Given the description of an element on the screen output the (x, y) to click on. 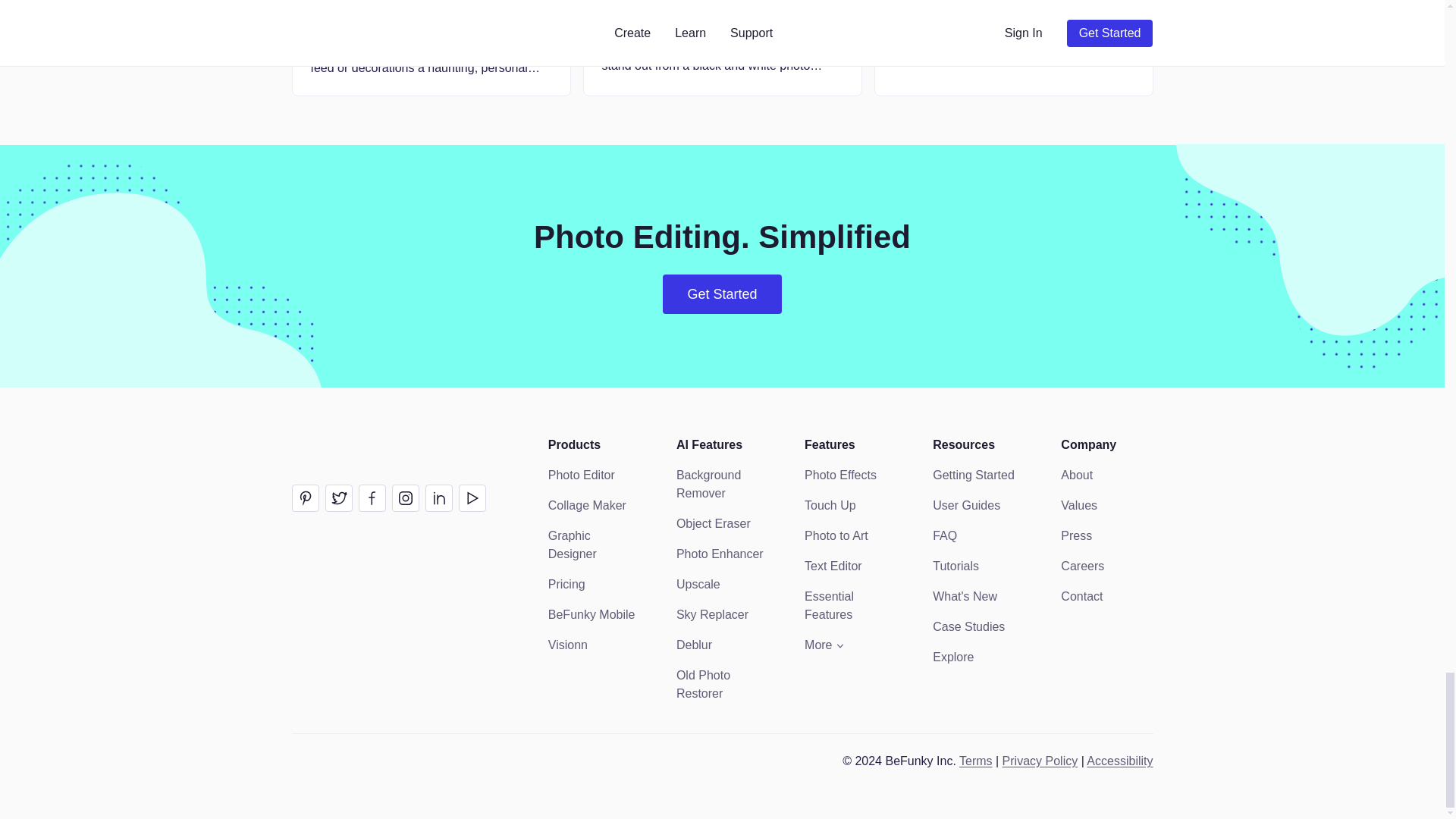
BeFunky on Twitter (338, 497)
BeFunky on YouTube (471, 497)
BeFunky on Facebook (371, 497)
BeFunky on Pinterest (304, 497)
BeFunky on LinkedIn (438, 497)
BeFunky on Instagram (405, 497)
